Given the description of an element on the screen output the (x, y) to click on. 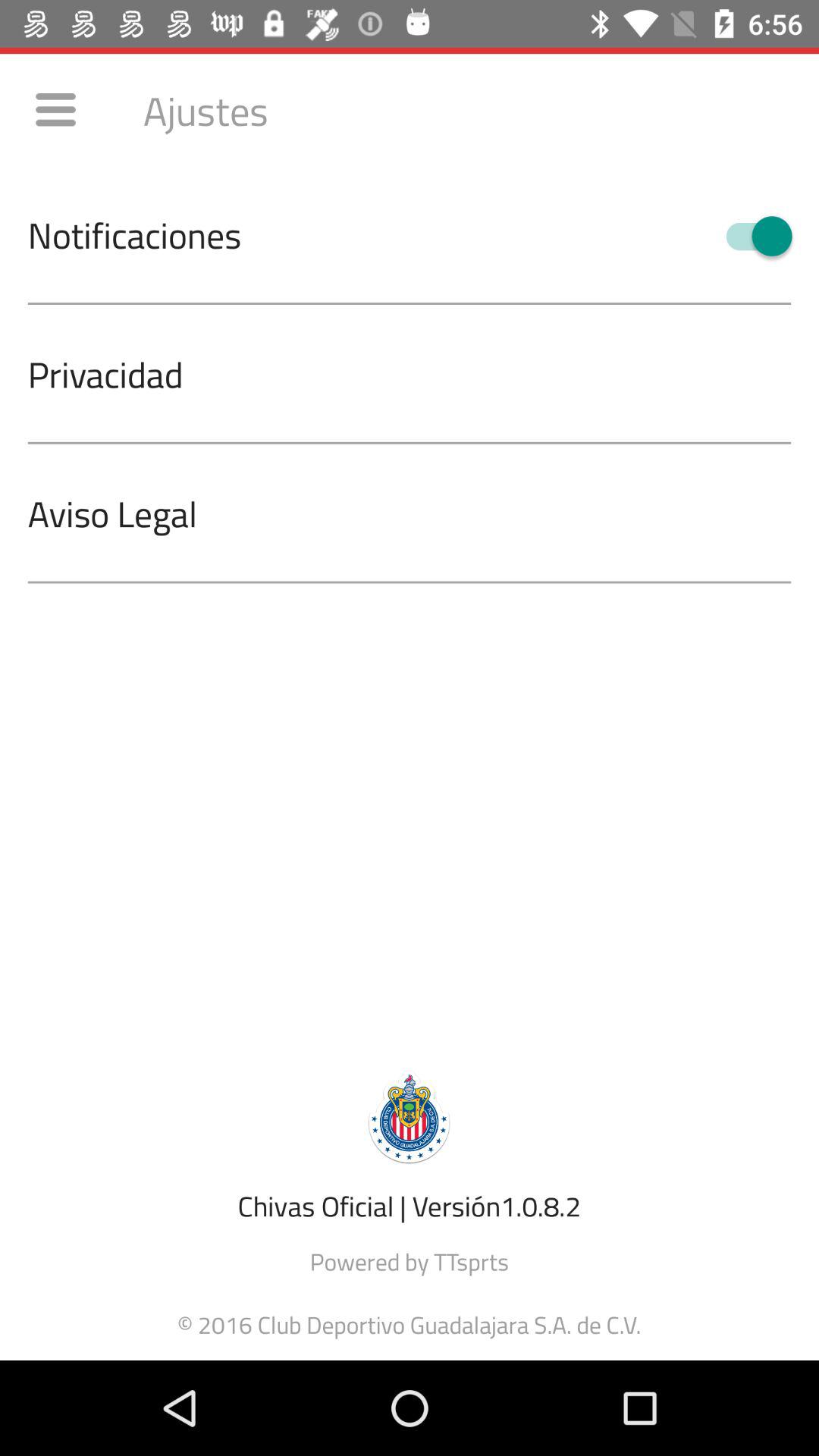
click the item next to ajustes item (55, 109)
